Given the description of an element on the screen output the (x, y) to click on. 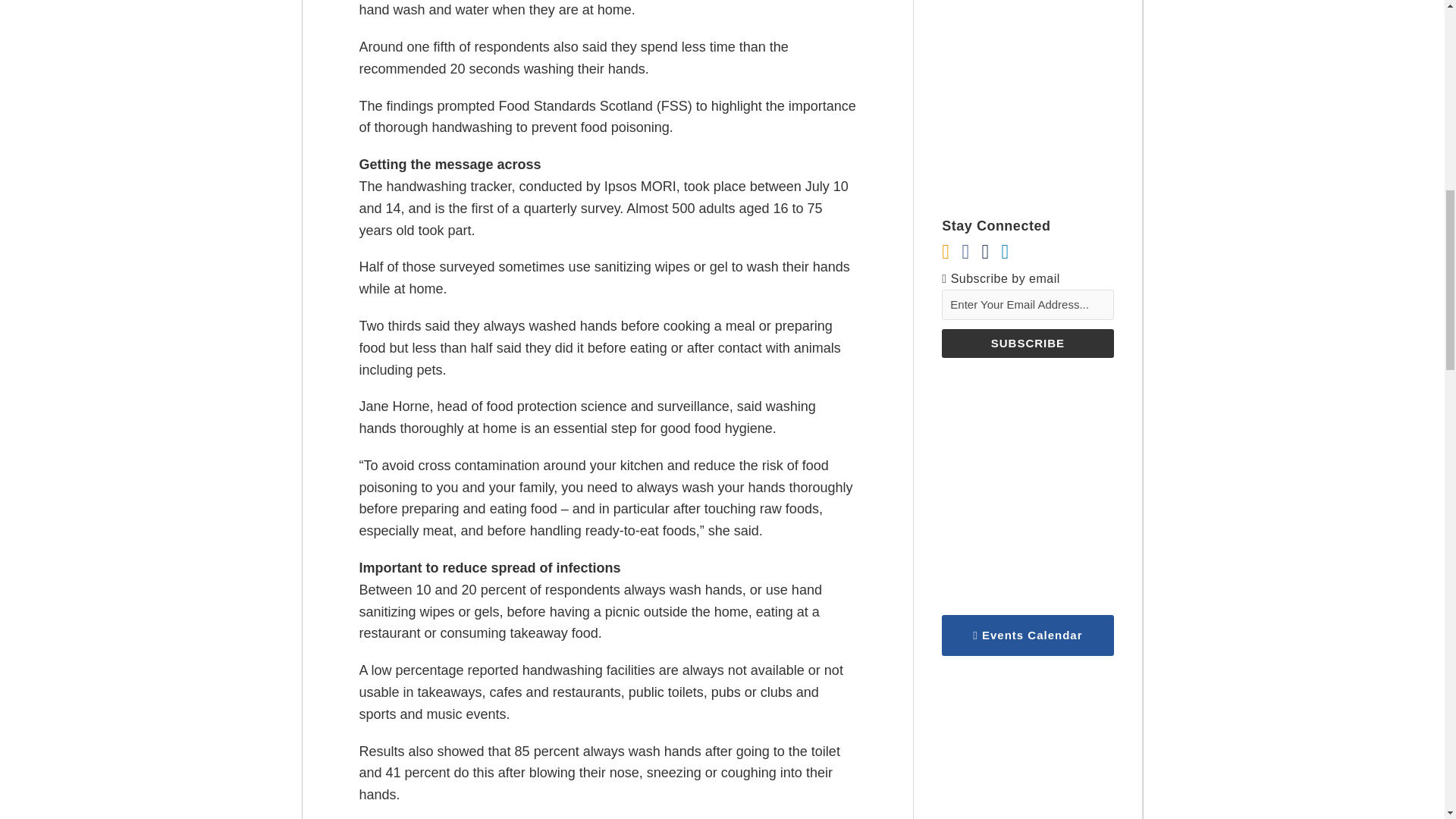
LinkedIn (1005, 251)
Twitter (984, 251)
Subscribe (1027, 343)
Subscribe (1027, 343)
Facebook (964, 251)
RSS (945, 251)
